Given the description of an element on the screen output the (x, y) to click on. 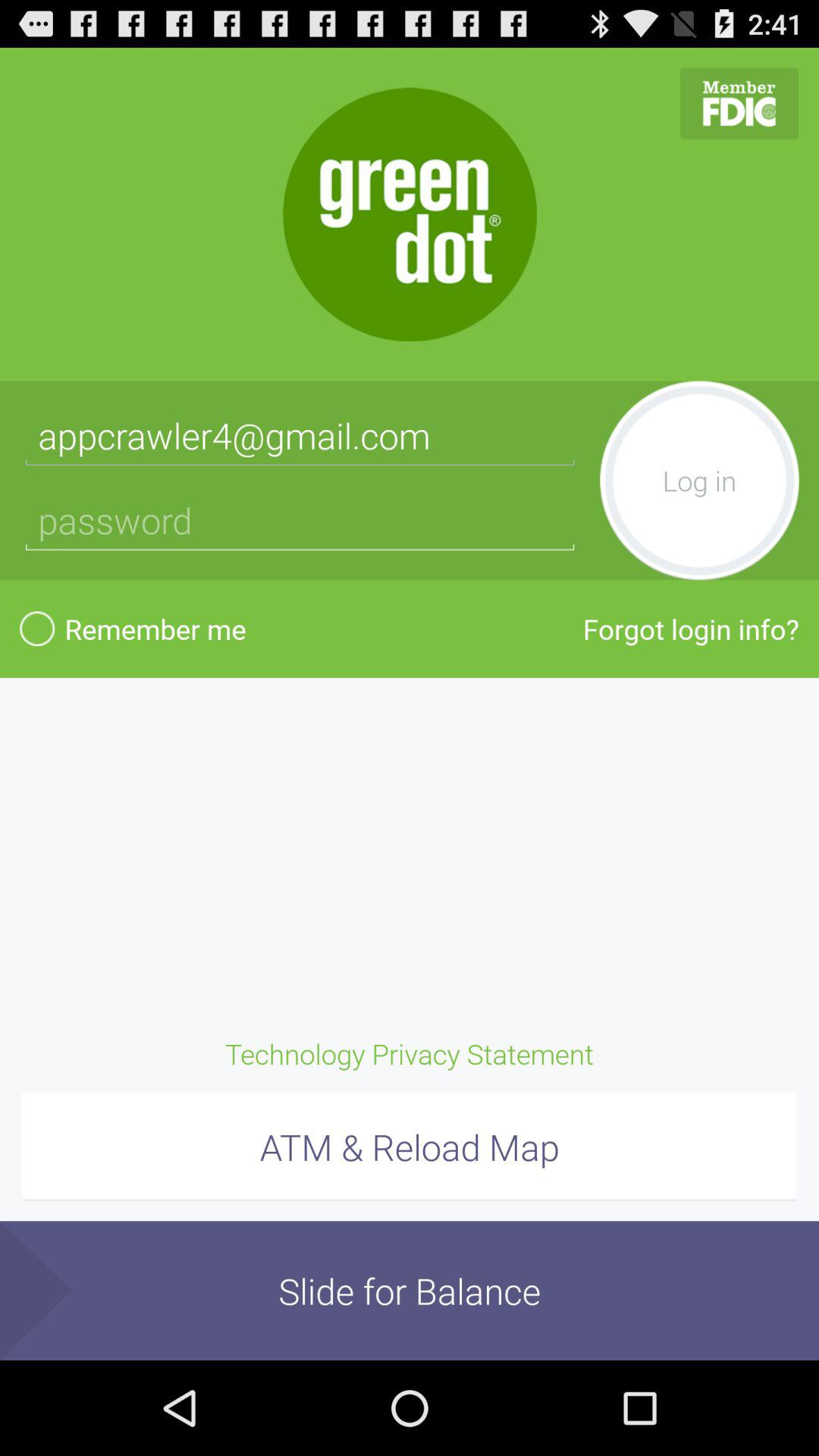
password (299, 520)
